Given the description of an element on the screen output the (x, y) to click on. 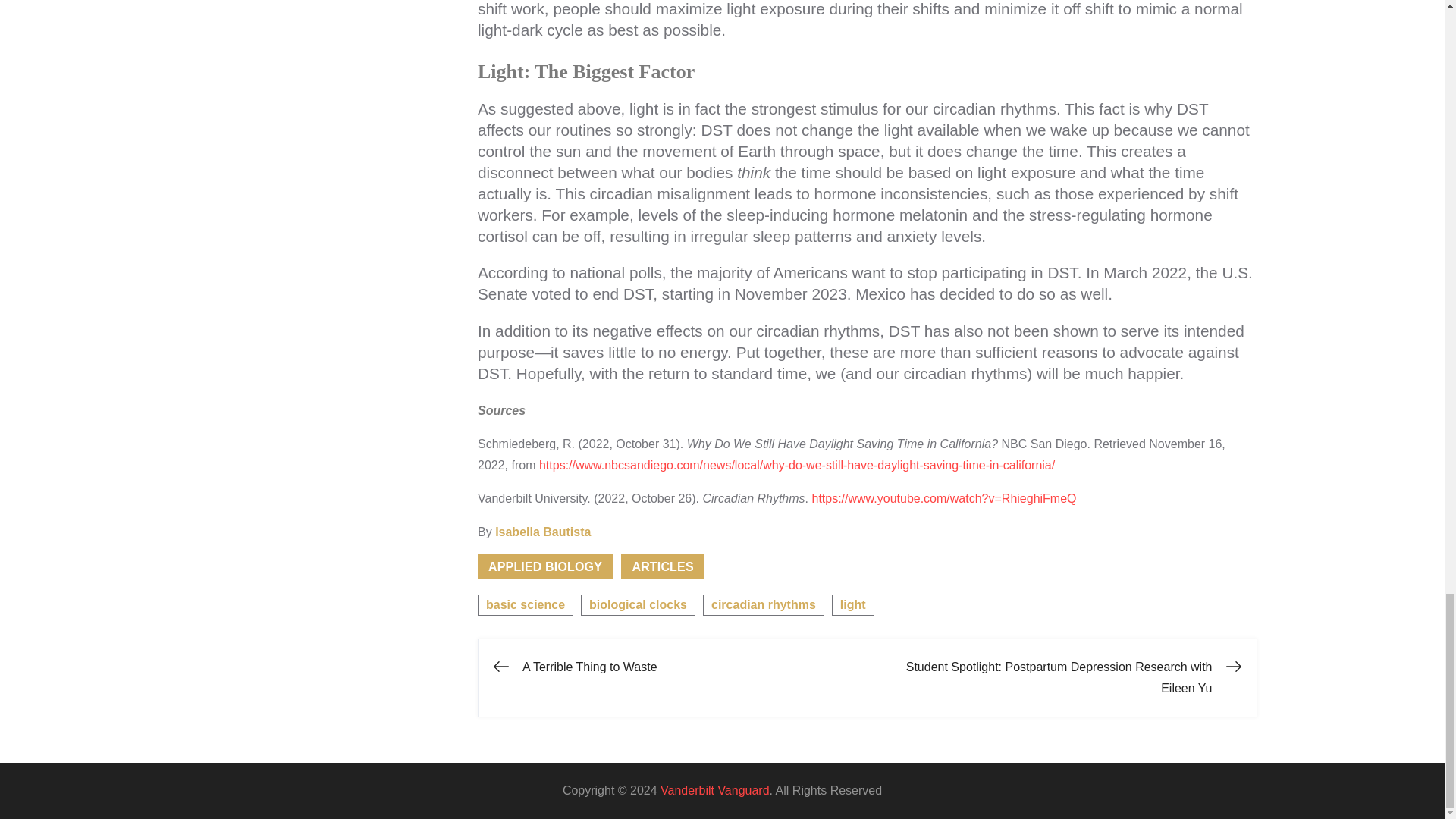
APPLIED BIOLOGY (544, 566)
ARTICLES (662, 566)
Isabella Bautista (543, 531)
light (853, 604)
biological clocks (637, 604)
circadian rhythms (763, 604)
basic science (525, 604)
